Given the description of an element on the screen output the (x, y) to click on. 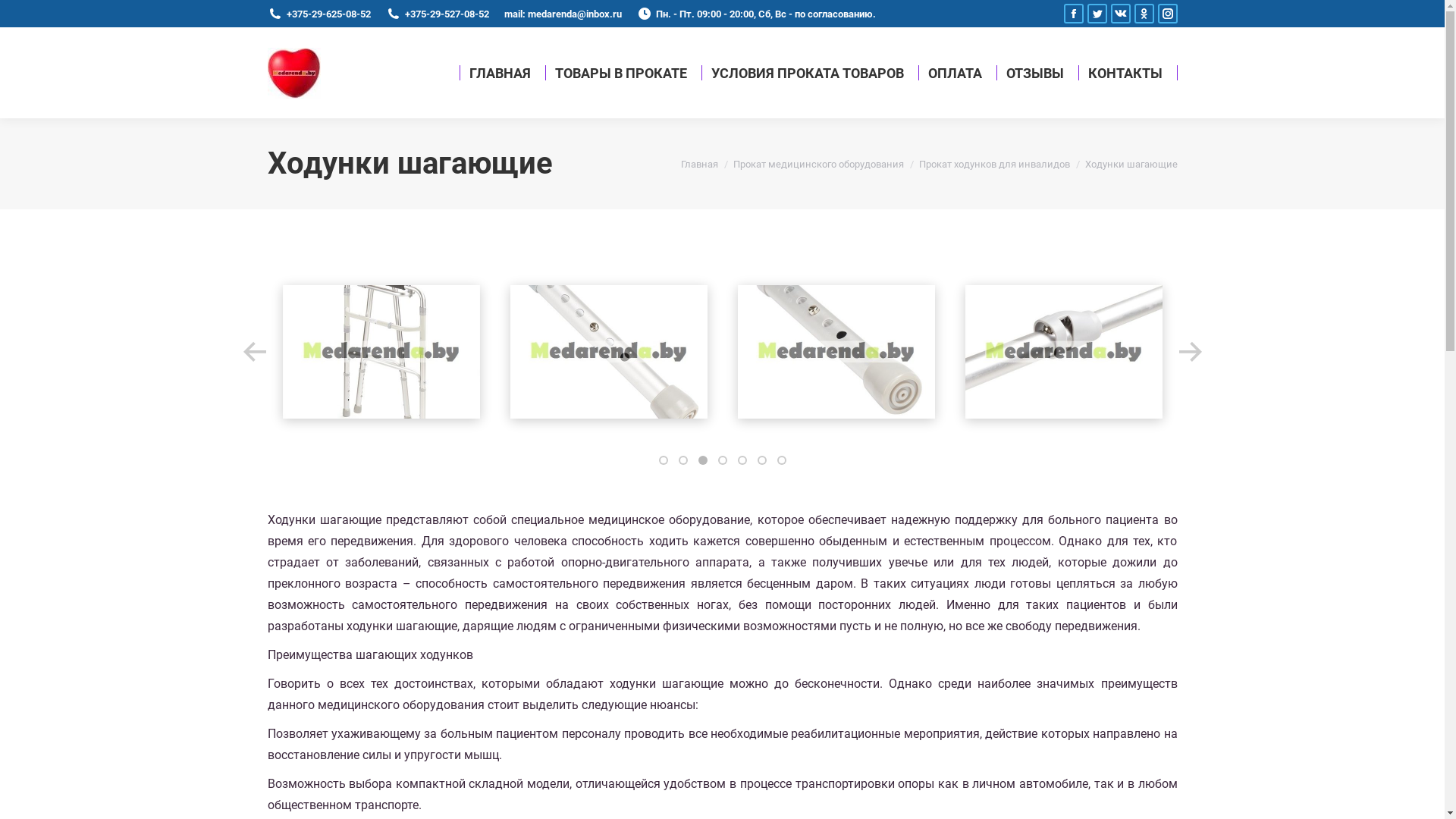
Twitter page opens in new window Element type: text (1097, 13)
Facebook page opens in new window Element type: text (1072, 13)
Instagram page opens in new window Element type: text (1166, 13)
